Given the description of an element on the screen output the (x, y) to click on. 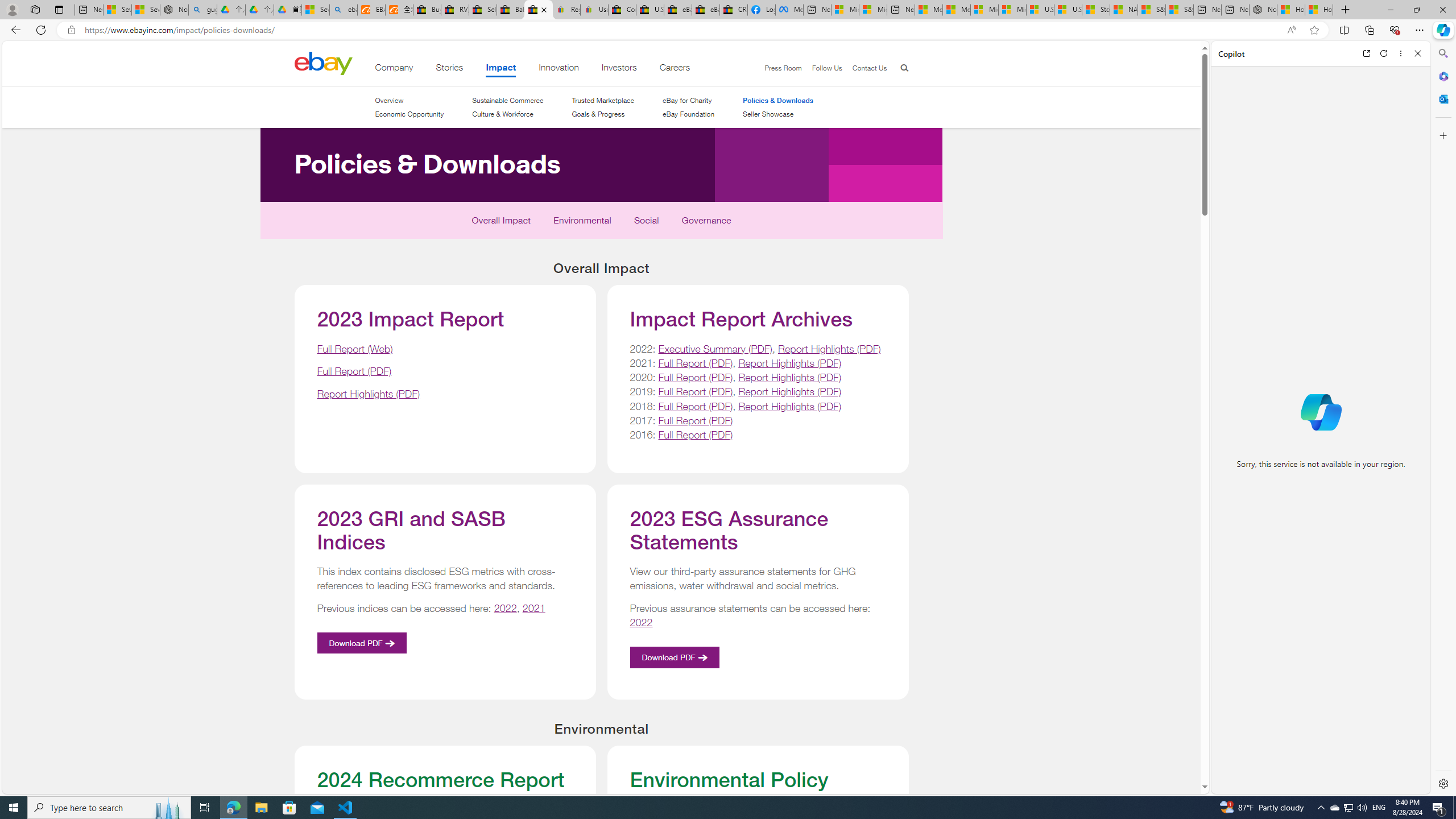
Press Room (778, 68)
Settings (1442, 783)
Investors (619, 69)
How to Use a Monitor With Your Closed Laptop (1319, 9)
RV, Trailer & Camper Steps & Ladders for sale | eBay (454, 9)
Home (323, 63)
Follow Us (821, 68)
Overview (409, 100)
Culture & Workforce (507, 113)
eBay Foundation (688, 113)
Log into Facebook (761, 9)
